Given the description of an element on the screen output the (x, y) to click on. 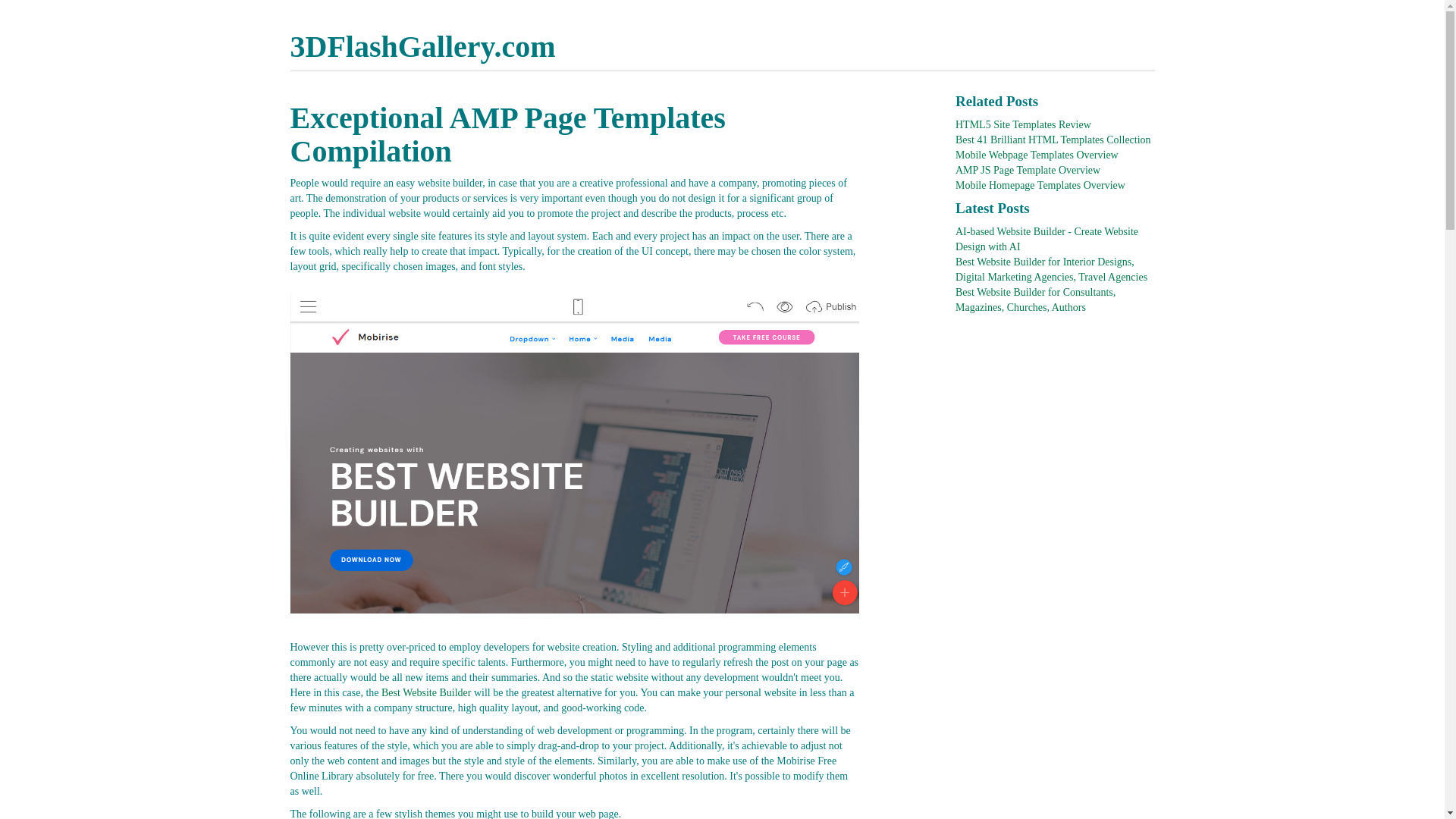
HTML5 Site Templates Review Element type: text (1023, 124)
Best 41 Brilliant HTML Templates Collection Element type: text (1053, 139)
AI-based Website Builder - Create Website Design with AI Element type: text (1046, 238)
3DFlashGallery.com Element type: text (422, 46)
AMP JS Page Template Overview Element type: text (1027, 169)
Mobile Homepage Templates Overview Element type: text (1040, 185)
Best Website Builder Element type: text (425, 692)
Mobile Webpage Templates Overview Element type: text (1036, 154)
